Given the description of an element on the screen output the (x, y) to click on. 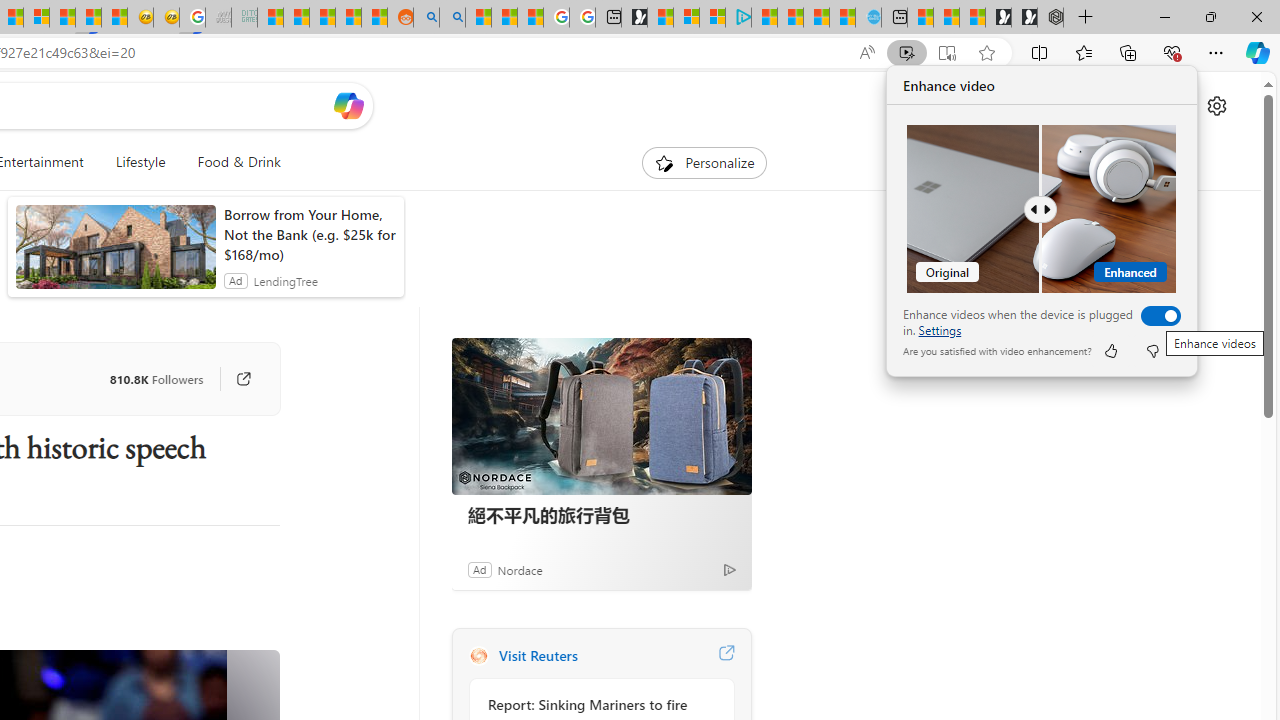
New Tab (1085, 17)
Personalize (703, 162)
Restore (1210, 16)
MSN (88, 17)
Ad (479, 569)
Food & Drink (239, 162)
Nordace - Nordace Siena Is Not An Ordinary Backpack (1050, 17)
Go to publisher's site (243, 378)
Utah sues federal government - Search (452, 17)
DITOGAMES AG Imprint - Sleeping (244, 17)
New tab (894, 17)
Borrow from Your Home, Not the Bank (e.g. $25k for $168/mo) (308, 234)
